Given the description of an element on the screen output the (x, y) to click on. 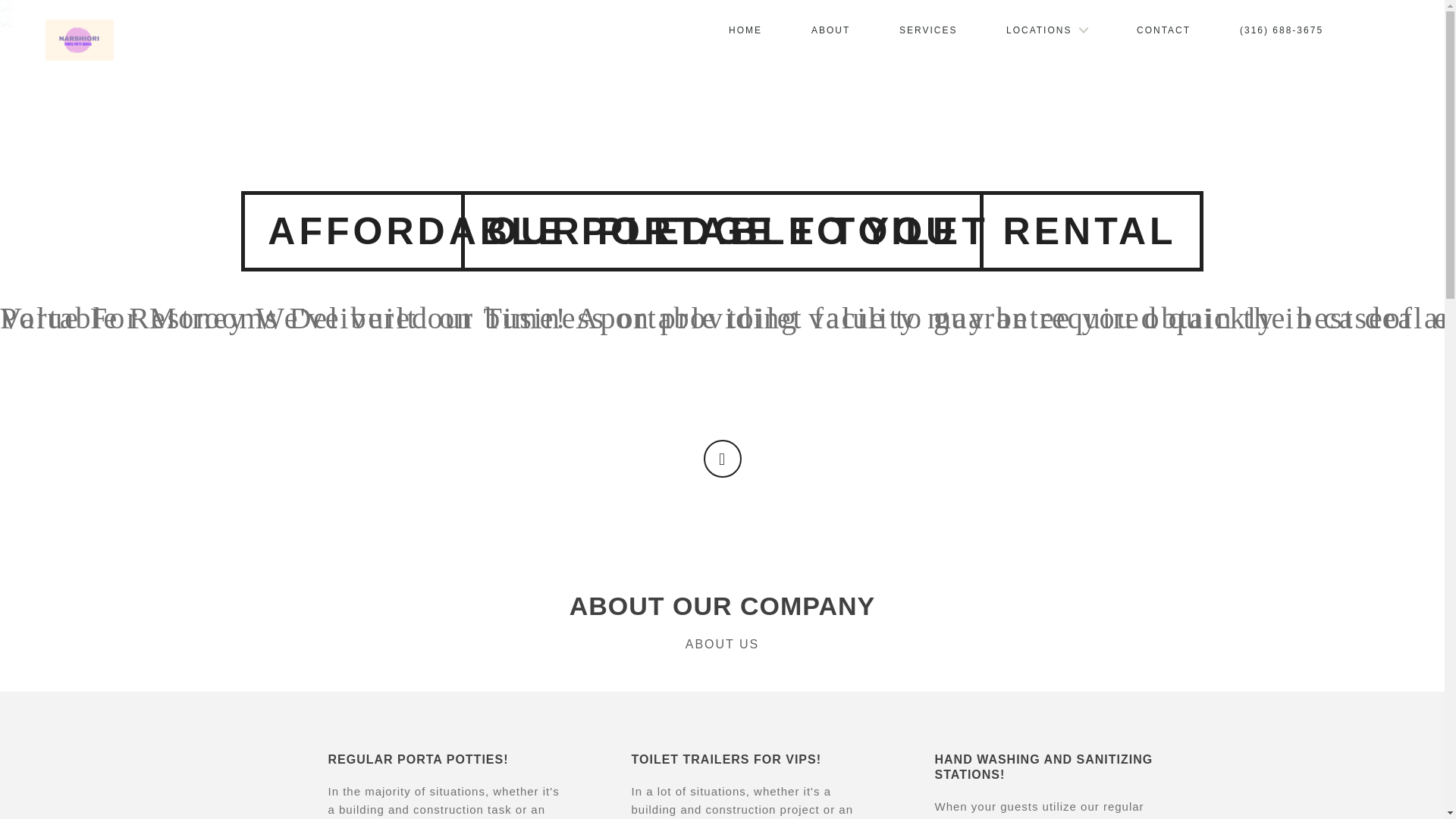
LOCATIONS (1046, 30)
CONTACT (1163, 30)
SERVICES (927, 30)
